Given the description of an element on the screen output the (x, y) to click on. 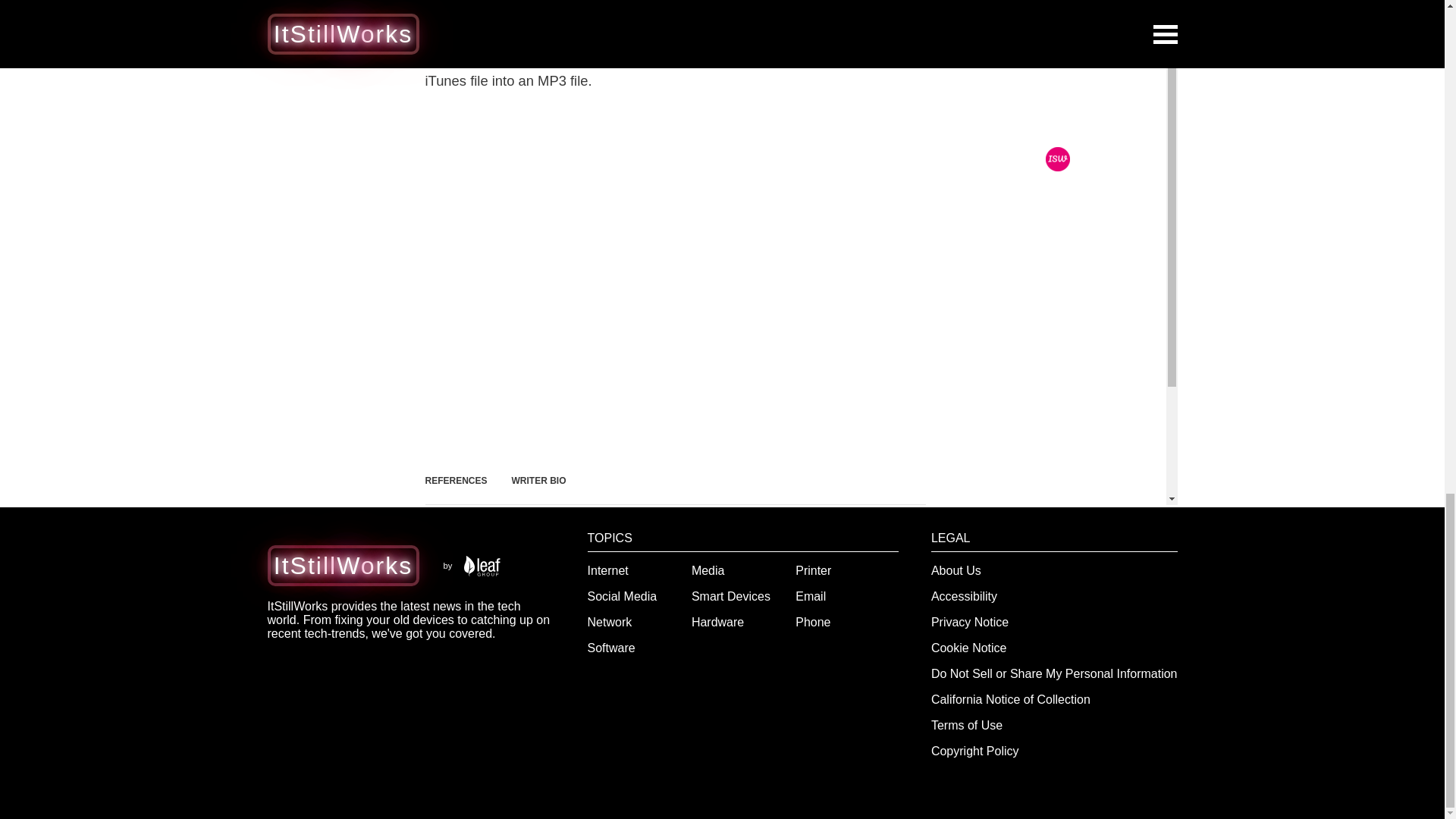
Phone (811, 621)
Network (609, 621)
Accessibility (964, 595)
Social Media (623, 595)
Terms of Use (967, 725)
Privacy Notice (970, 621)
Copyright Policy (975, 750)
Software (611, 647)
Internet (608, 570)
Cookie Notice (969, 647)
Do Not Sell or Share My Personal Information (1054, 673)
ItStillWorks (342, 565)
About Us (956, 570)
Hardware (717, 621)
California Notice of Collection (1010, 698)
